Given the description of an element on the screen output the (x, y) to click on. 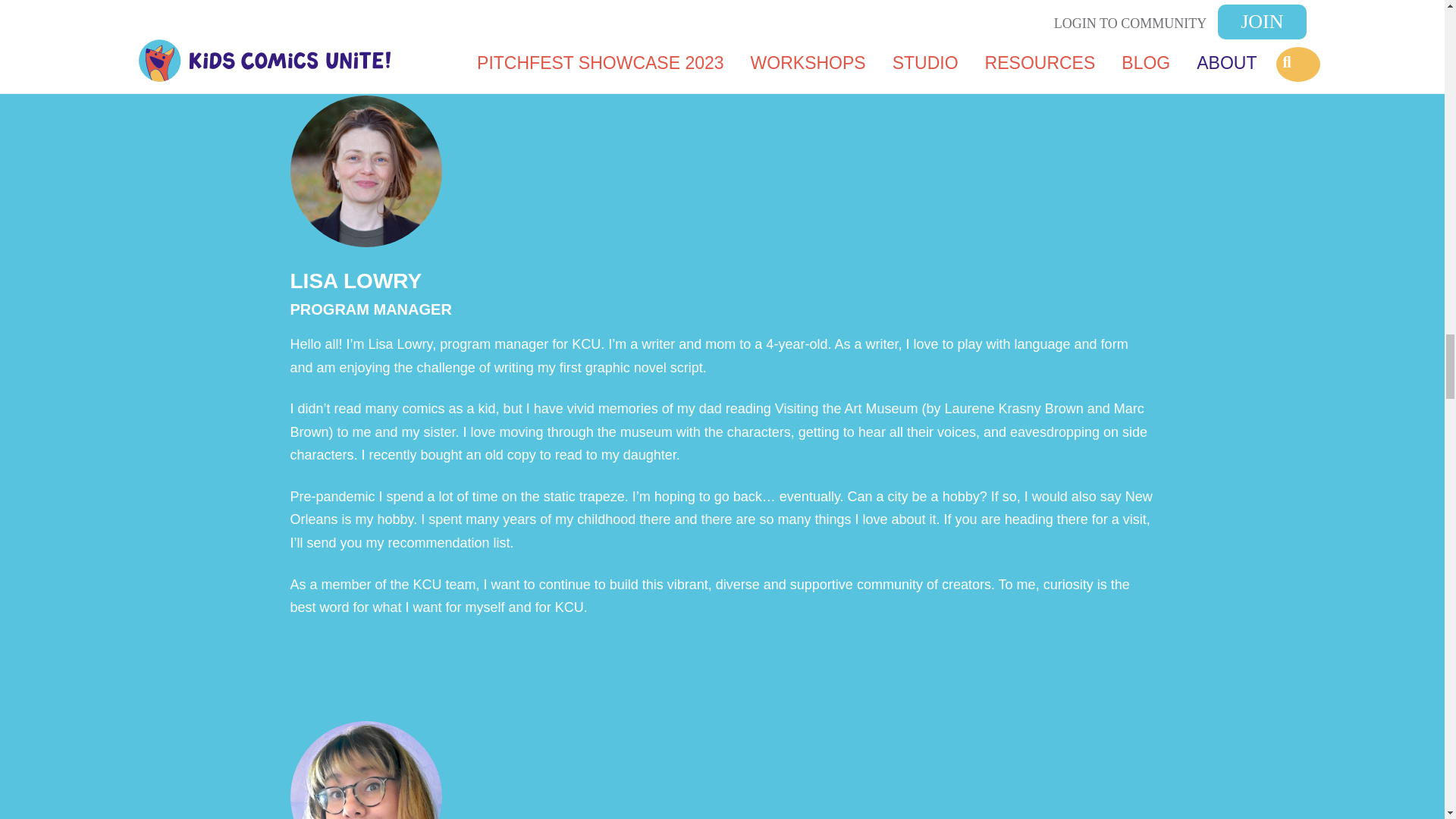
Kids Comics Unite (416, 23)
Janna Co (538, 23)
